Given the description of an element on the screen output the (x, y) to click on. 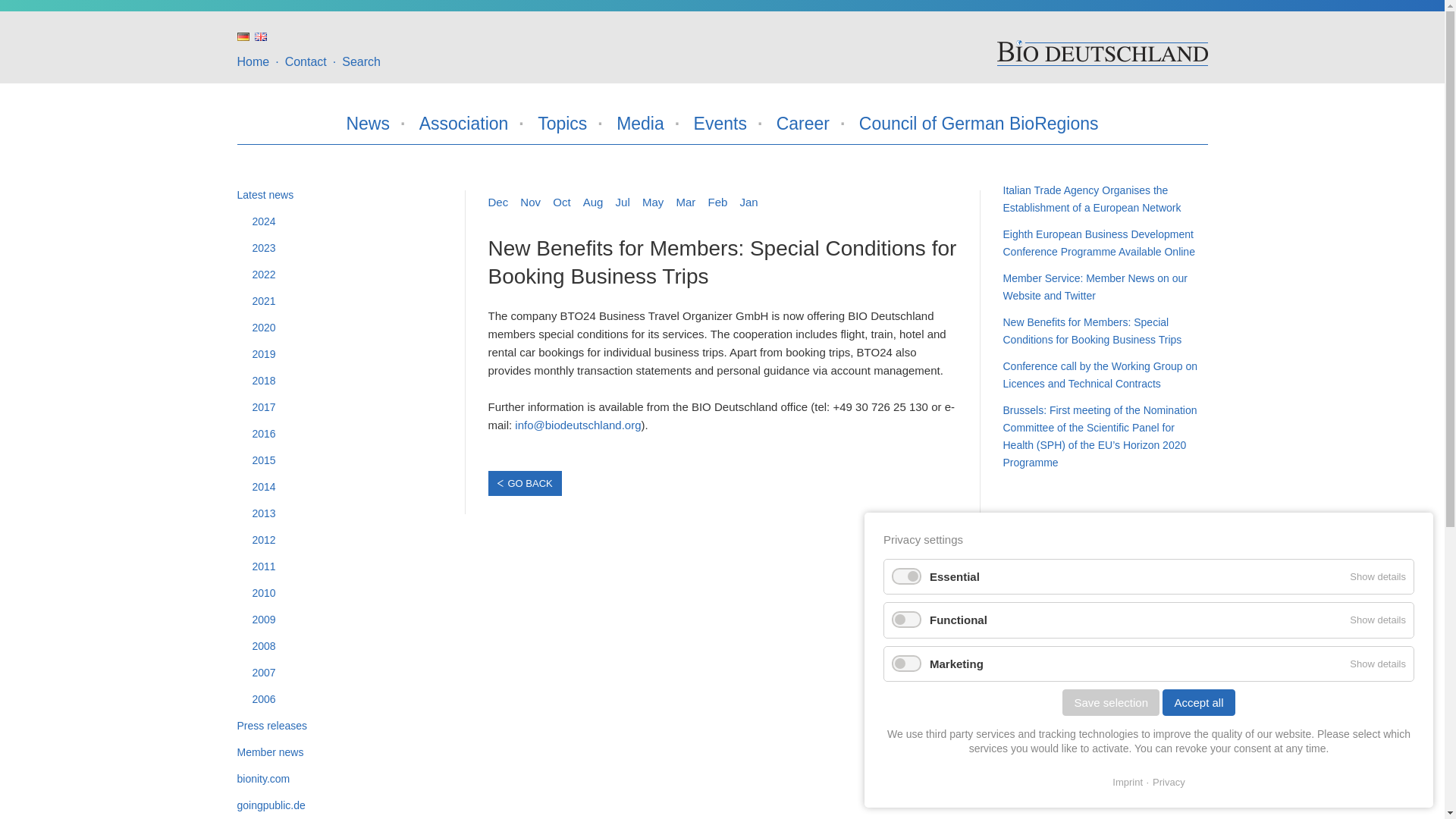
2016 (346, 434)
Council of German BioRegions (979, 123)
Aug (593, 202)
GO BACK (524, 483)
Dec (497, 202)
Home (252, 61)
2018 (346, 380)
Topics (561, 123)
Media (639, 123)
Events (720, 123)
2019 (346, 354)
2017 (346, 407)
Feb (717, 202)
News (368, 123)
Topics (561, 123)
